Given the description of an element on the screen output the (x, y) to click on. 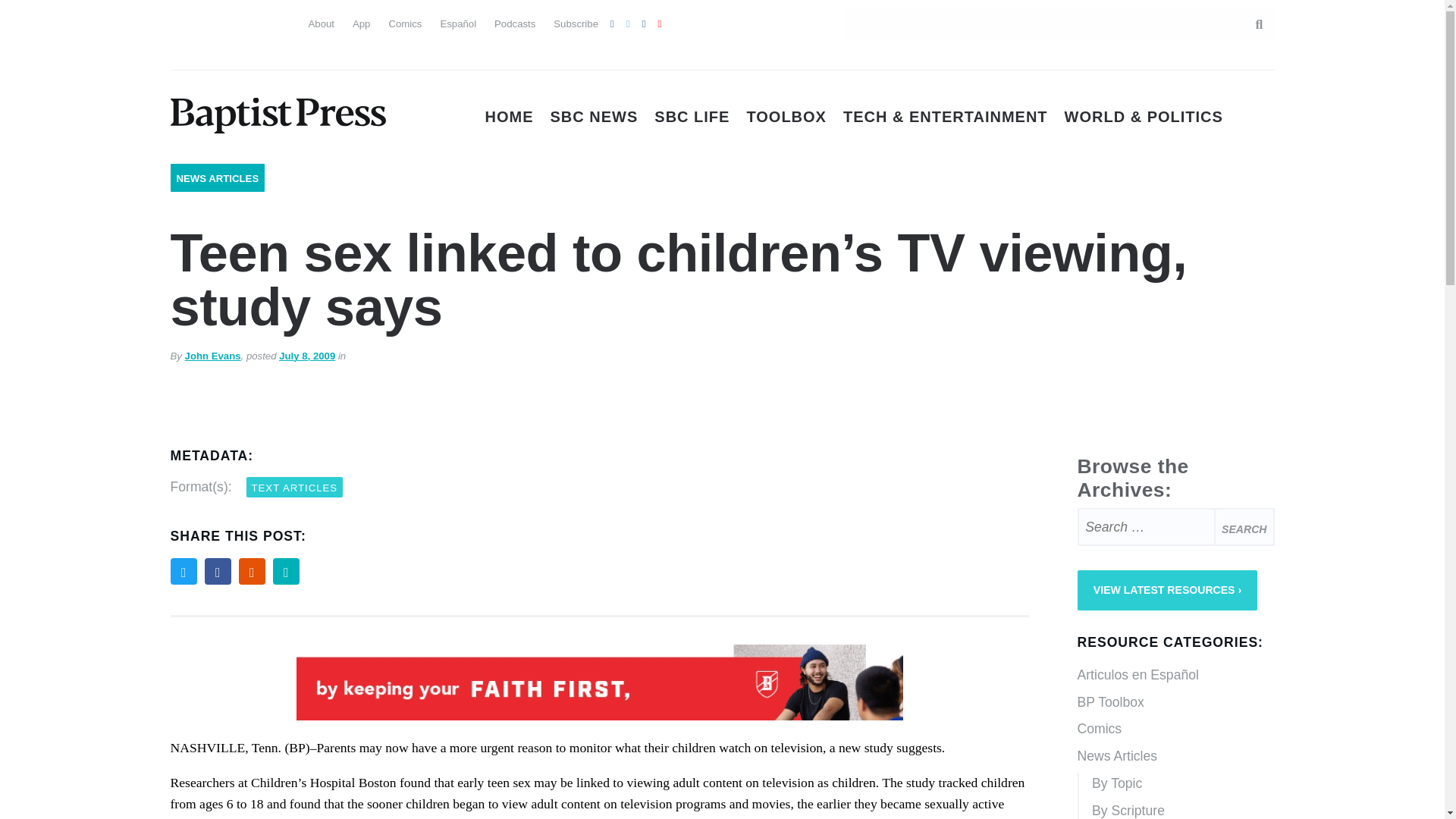
French (263, 21)
NEWS ARTICLES (217, 178)
VIEW LATEST RESOURCES (1167, 590)
Comics (405, 23)
English (182, 21)
Search (1244, 526)
Haitian (182, 51)
App (360, 23)
SBC NEWS (594, 116)
John Evans (212, 355)
Subscribe (575, 23)
July 8, 2009 (306, 355)
BP Toolbox (1175, 703)
About (320, 23)
Podcasts (515, 23)
